Given the description of an element on the screen output the (x, y) to click on. 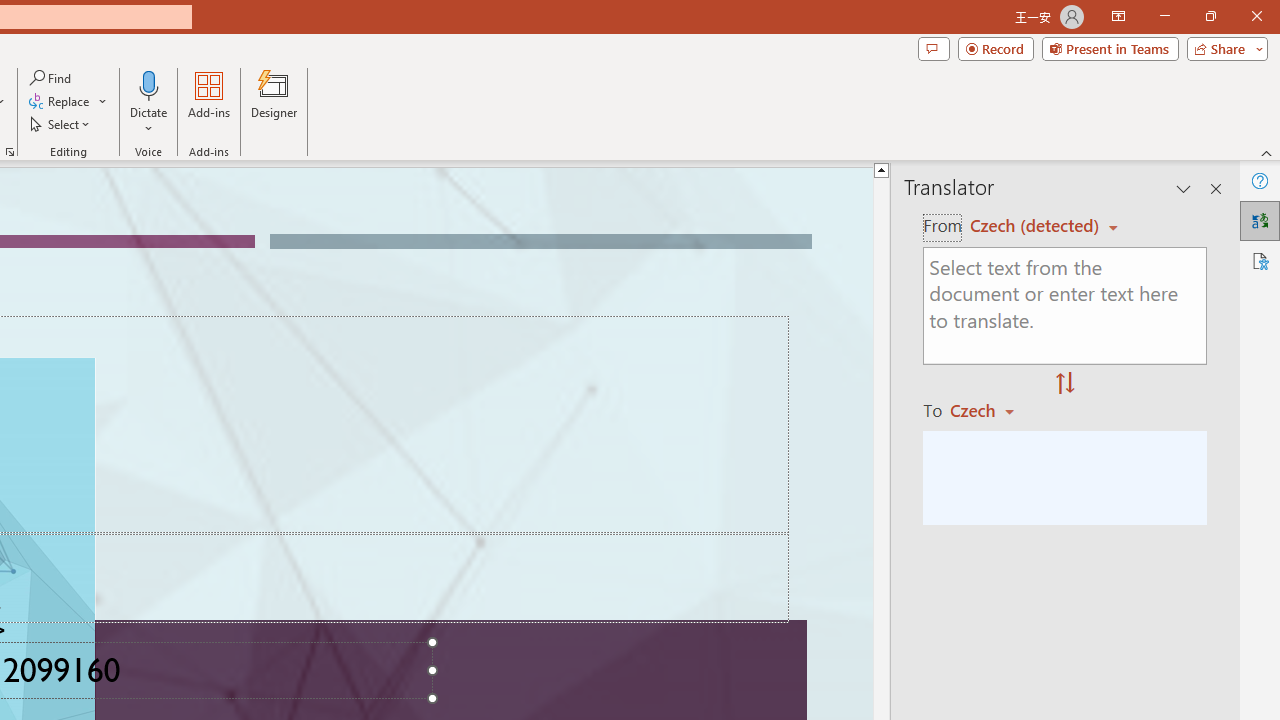
Czech (991, 409)
